Given the description of an element on the screen output the (x, y) to click on. 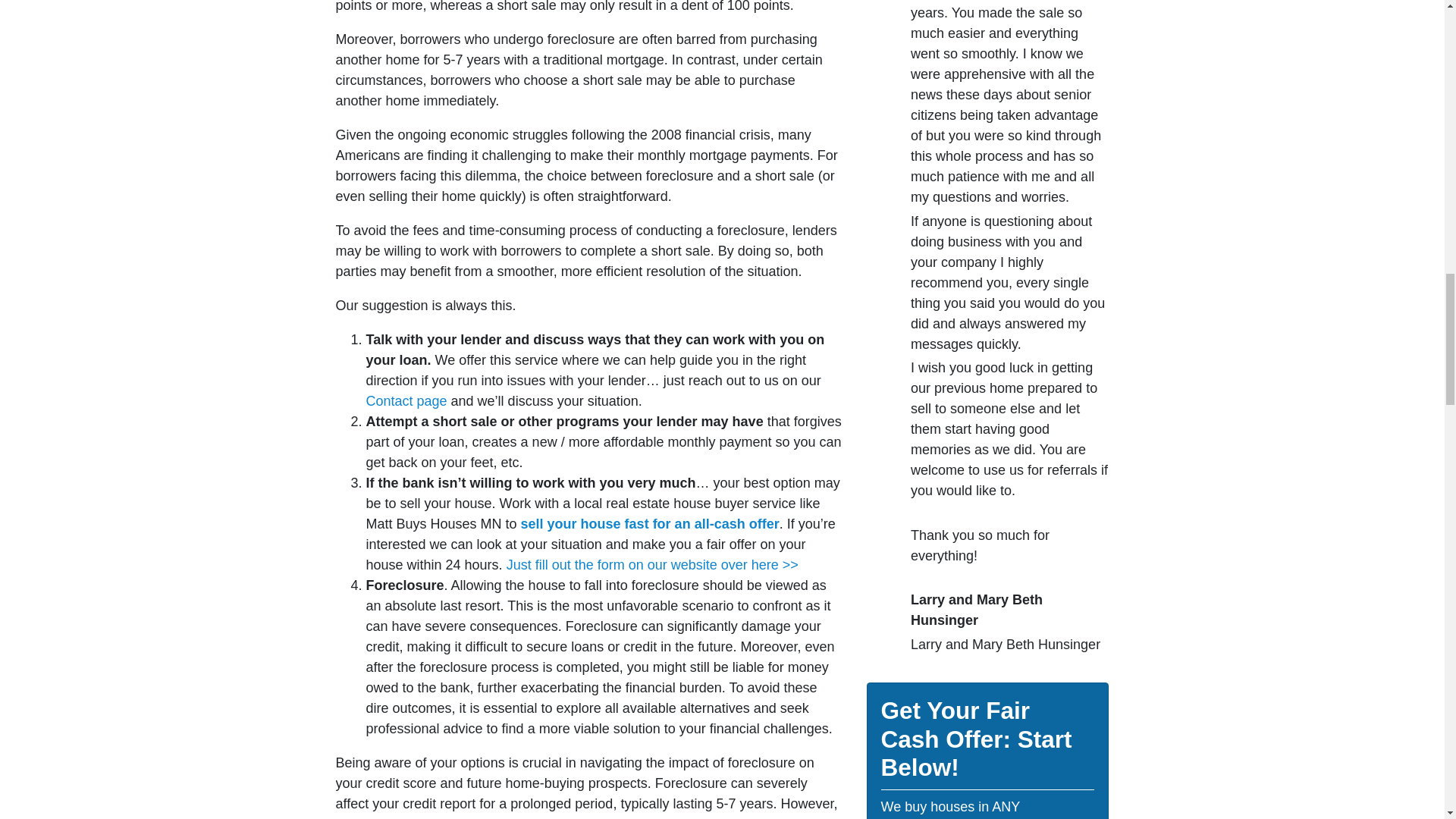
sell your house fast for an all-cash offer (647, 523)
Contact page (405, 400)
